Given the description of an element on the screen output the (x, y) to click on. 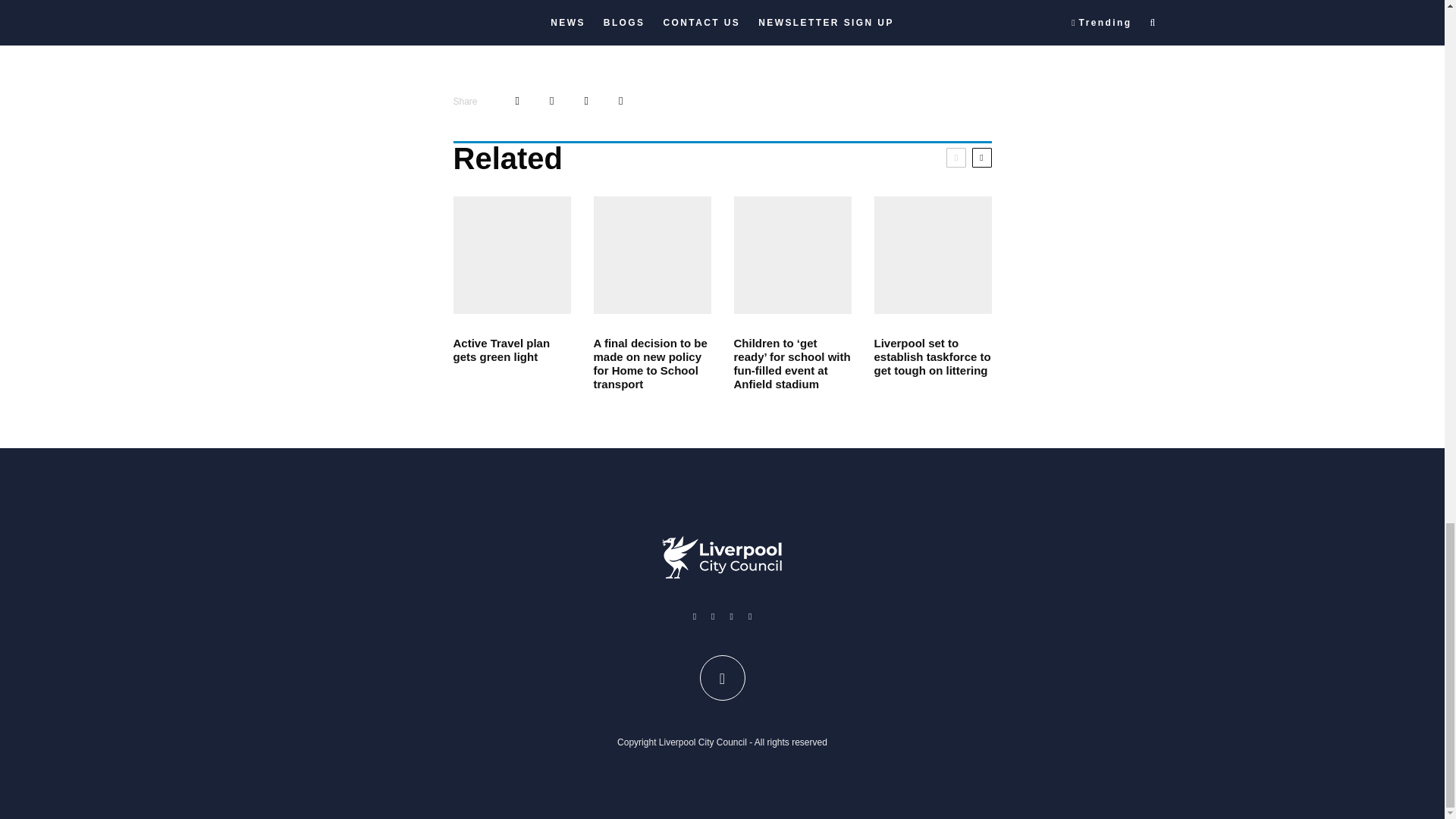
Active Travel plan gets green light (511, 349)
